Given the description of an element on the screen output the (x, y) to click on. 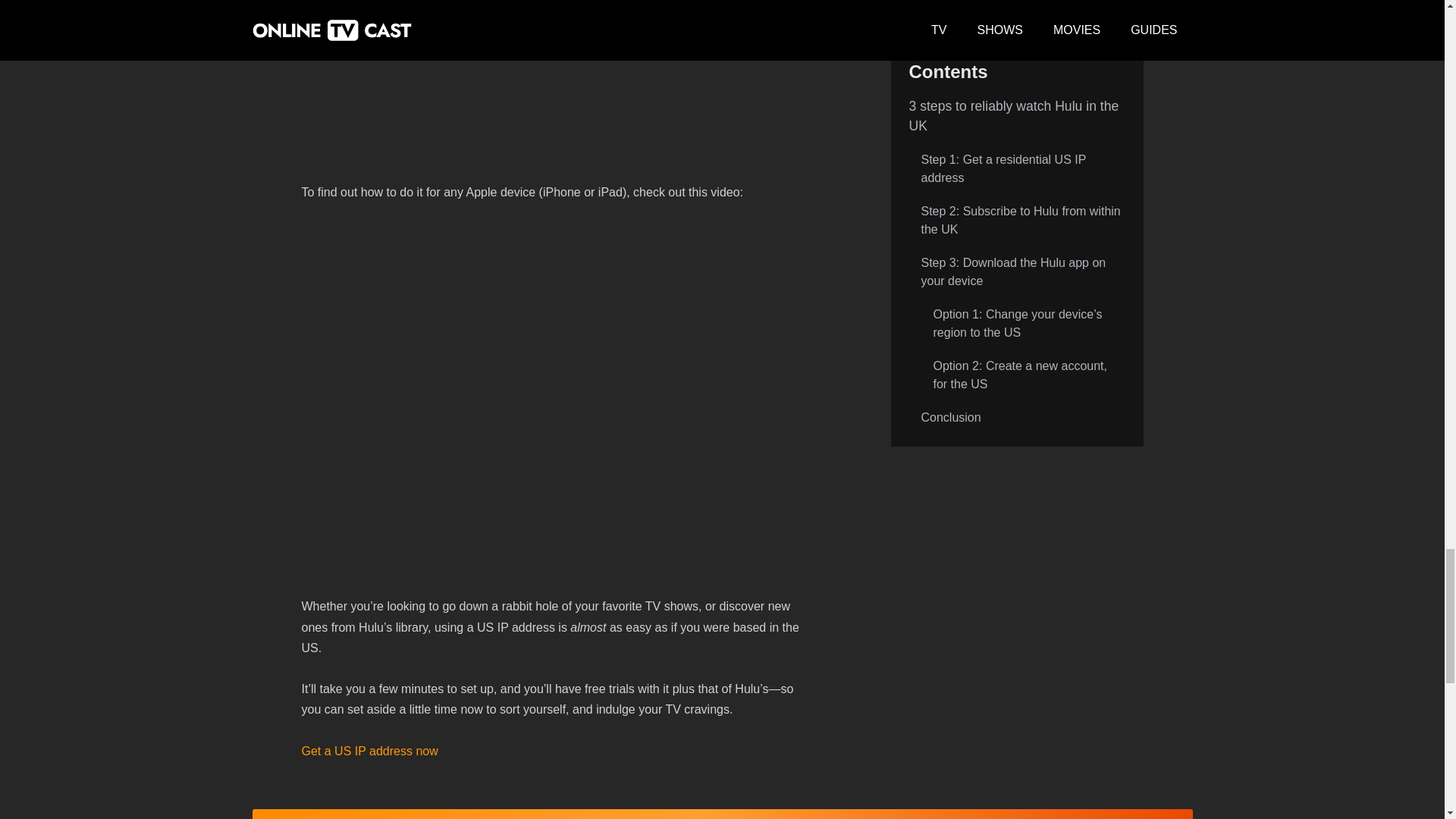
Get a US IP address now (369, 751)
YouTube embed (551, 86)
